Given the description of an element on the screen output the (x, y) to click on. 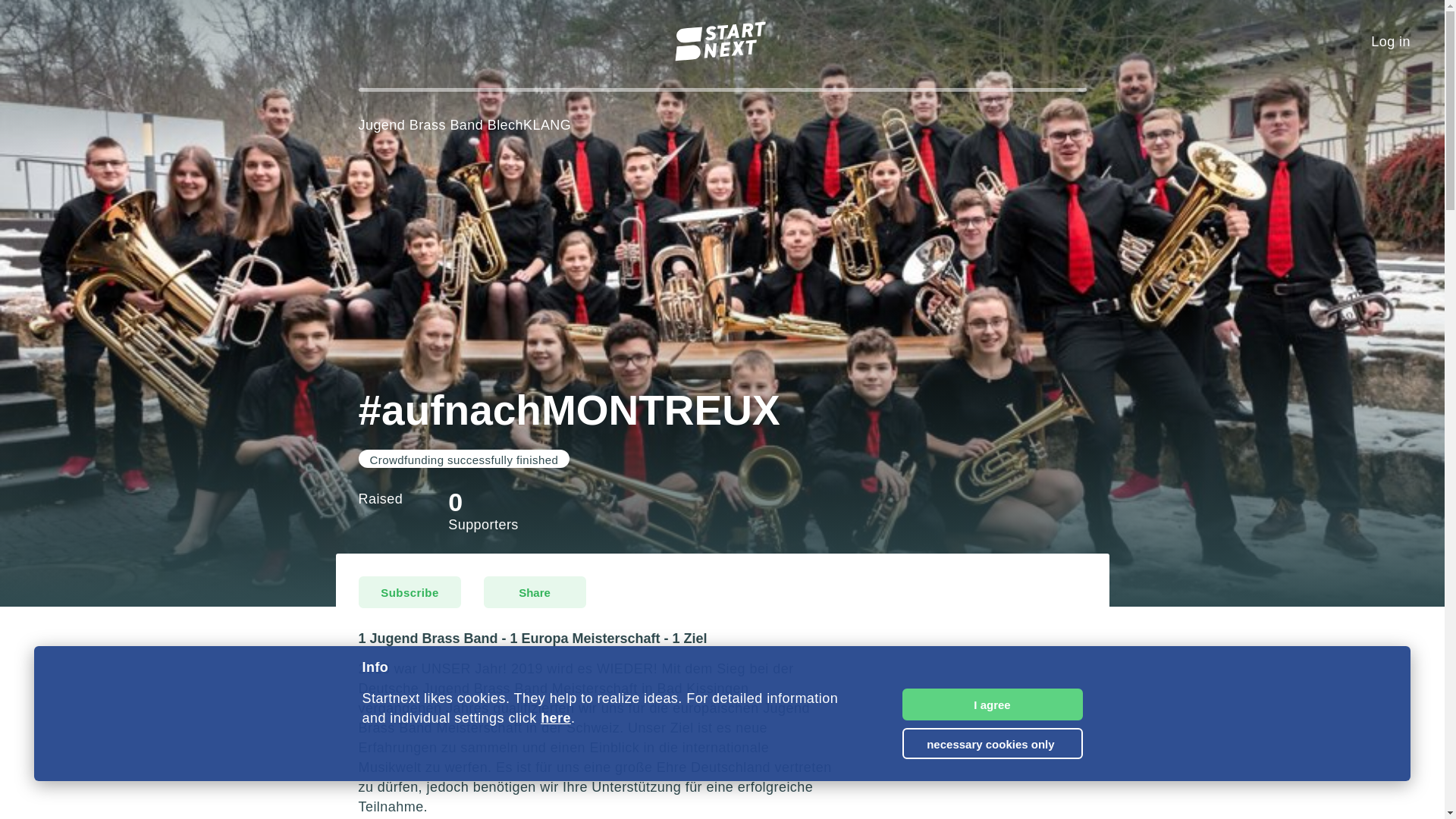
Log in (1390, 41)
Jugend Brass Band BlechKLANG (464, 124)
Share (534, 592)
Subscribe (409, 592)
